Given the description of an element on the screen output the (x, y) to click on. 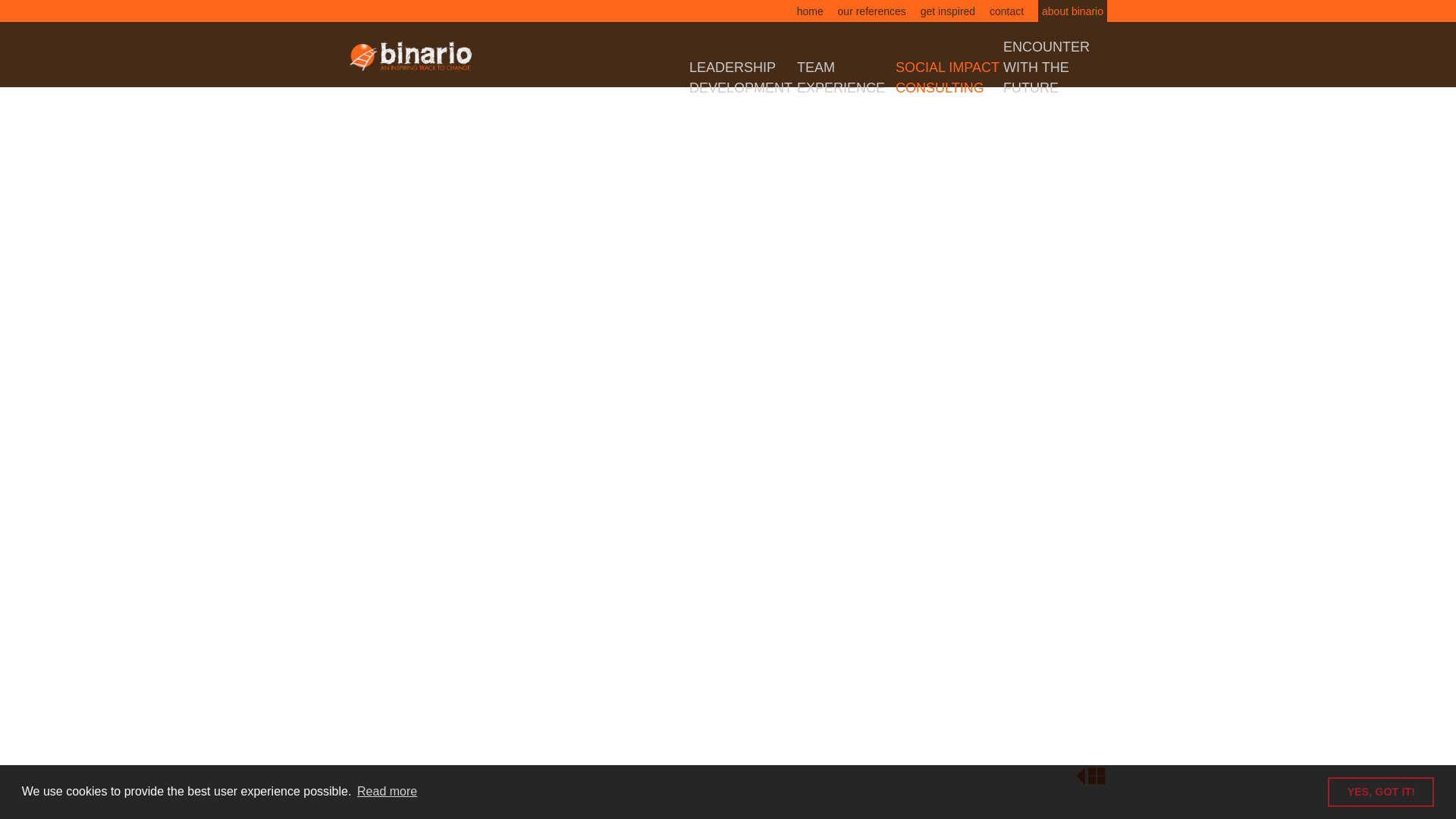
LEADERSHIP DEVELOPMENT Element type: text (740, 77)
SOCIAL IMPACT CONSULTING Element type: text (947, 77)
TEAM EXPERIENCE Element type: text (840, 77)
about binario Element type: text (1072, 11)
our references Element type: text (871, 11)
contact Element type: text (1006, 11)
home Element type: text (810, 11)
Read more Element type: text (387, 791)
get inspired Element type: text (947, 11)
YES, GOT IT! Element type: text (1380, 791)
ENCOUNTER WITH THE FUTURE Element type: text (1046, 67)
